Given the description of an element on the screen output the (x, y) to click on. 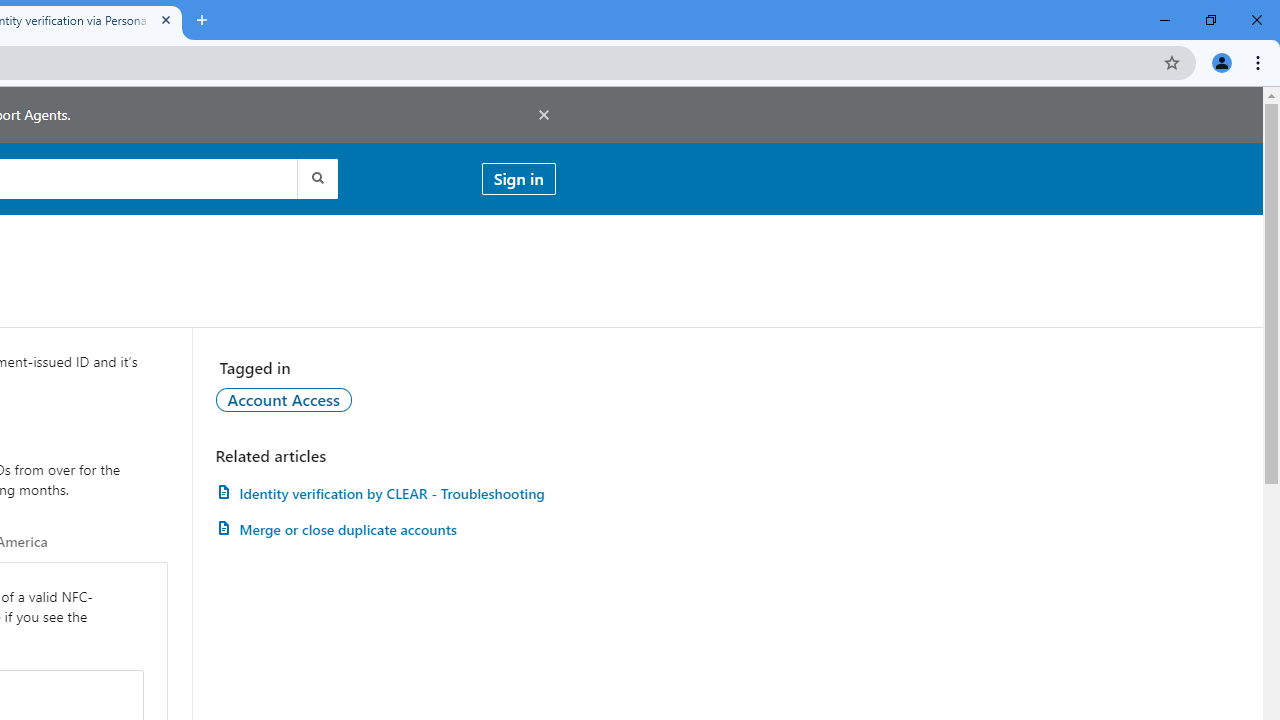
AutomationID: article-link-a1337200 (385, 529)
Merge or close duplicate accounts (385, 529)
Account Access (283, 399)
AutomationID: article-link-a1457505 (385, 493)
AutomationID: topic-link-a151002 (283, 399)
Submit search (316, 178)
Identity verification by CLEAR - Troubleshooting (385, 493)
